Given the description of an element on the screen output the (x, y) to click on. 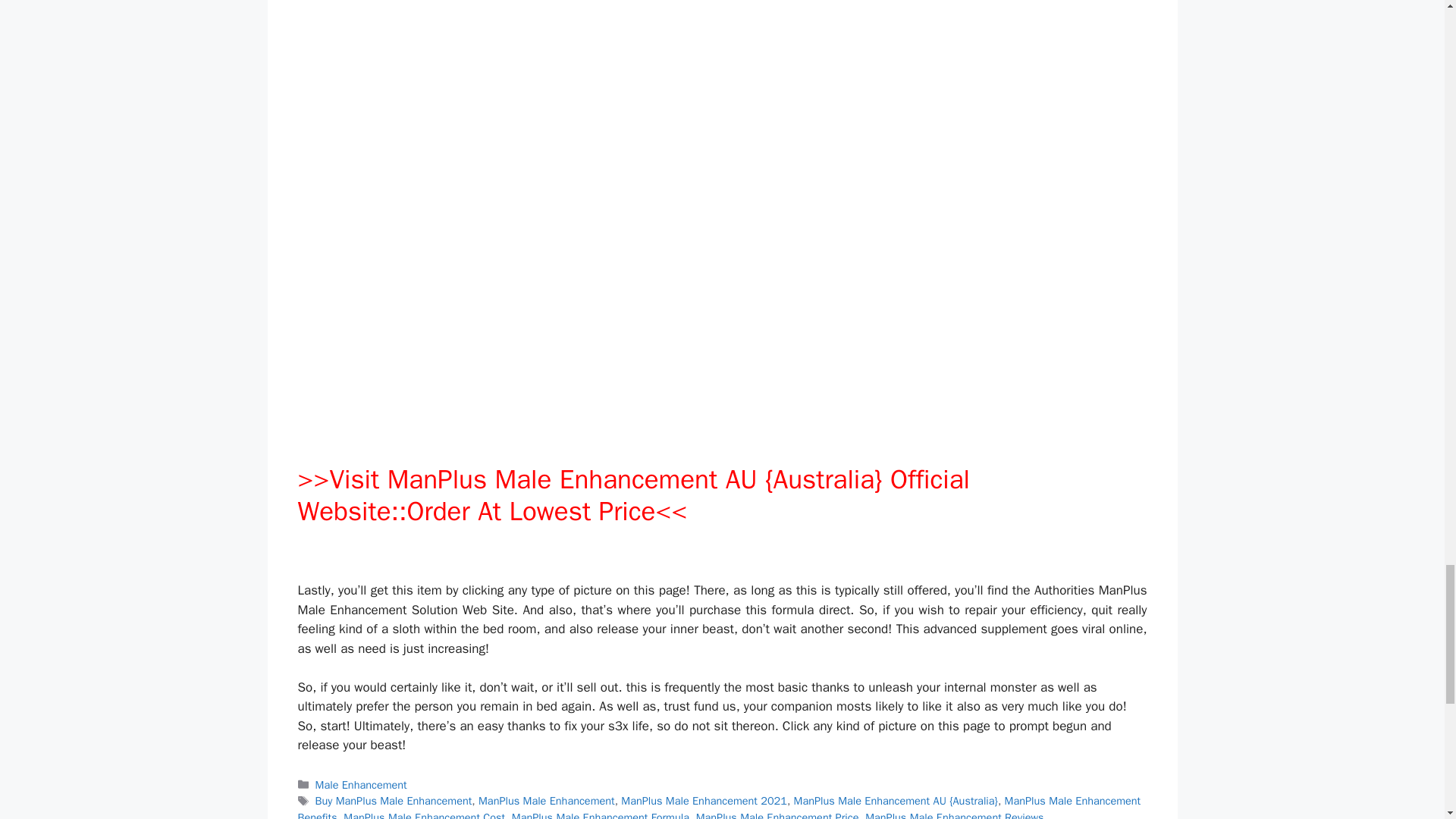
Buy ManPlus Male Enhancement (393, 800)
ManPlus Male Enhancement Cost (424, 814)
Male Enhancement (361, 784)
ManPlus Male Enhancement (546, 800)
ManPlus Male Enhancement Benefits (718, 806)
ManPlus Male Enhancement 2021 (704, 800)
ManPlus Male Enhancement Price (777, 814)
ManPlus Male Enhancement Formula (600, 814)
ManPlus Male Enhancement Reviews (953, 814)
